Given the description of an element on the screen output the (x, y) to click on. 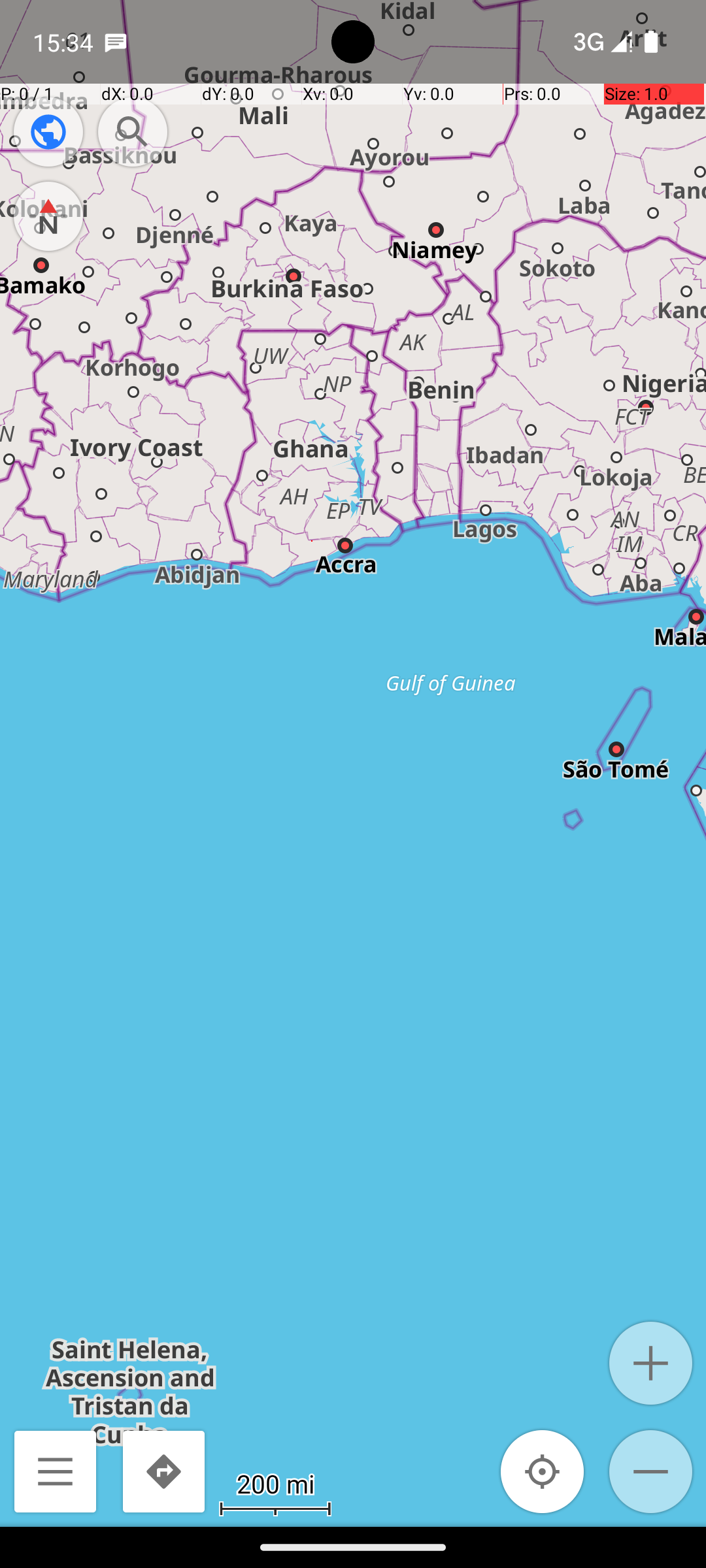
Map Element type: android.view.View (353, 763)
Configure map Element type: android.widget.ImageButton (48, 131)
North is up Element type: android.widget.ImageButton (48, 216)
Back to menu Element type: android.widget.ImageButton (55, 1471)
Route Element type: android.widget.ImageButton (163, 1471)
200 mi Element type: android.widget.TextView (274, 1483)
Position not yet known. Element type: android.widget.ImageButton (542, 1471)
Zoom in Element type: android.widget.ImageButton (650, 1362)
Zoom out Element type: android.widget.ImageButton (650, 1471)
